Given the description of an element on the screen output the (x, y) to click on. 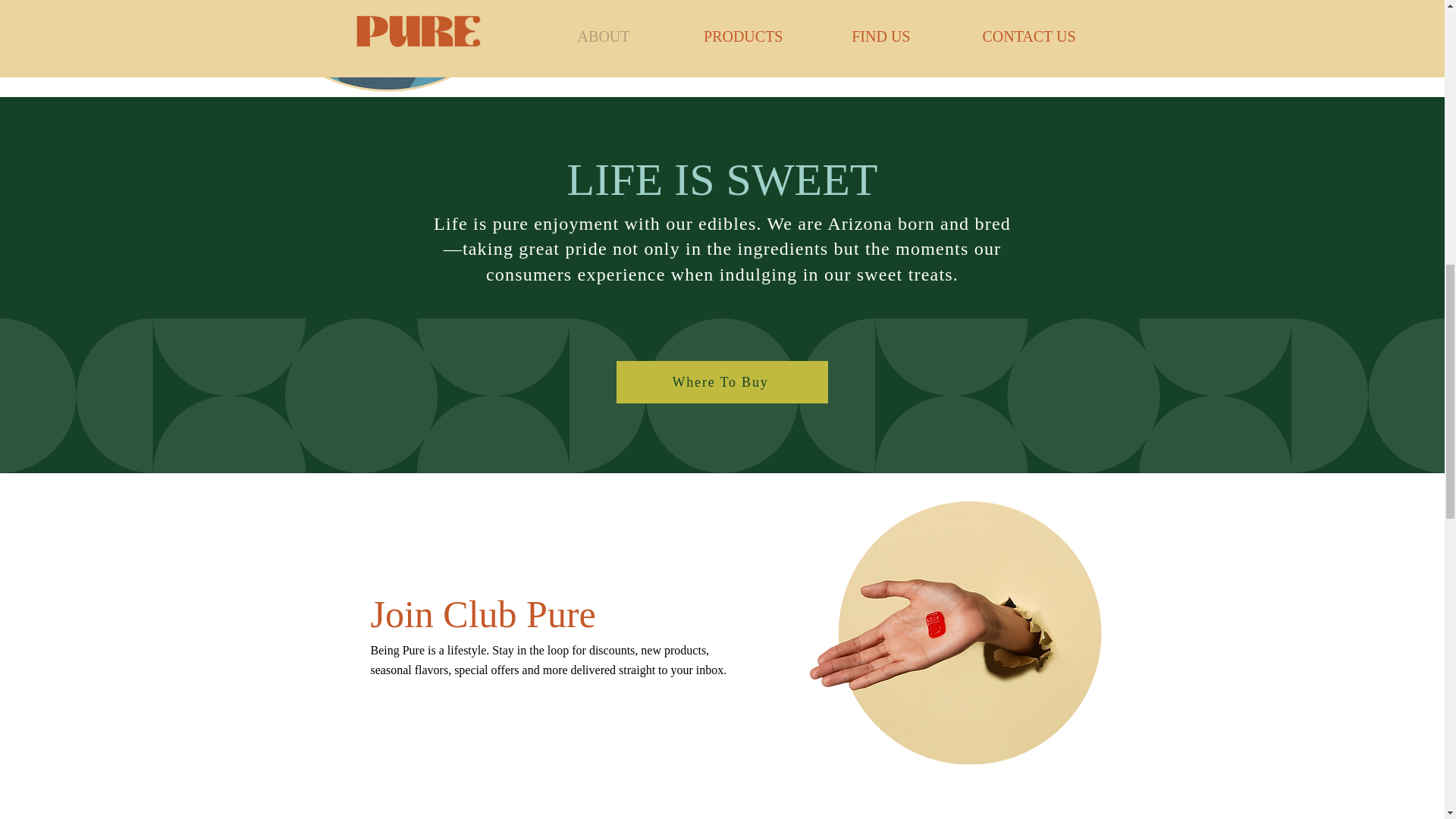
Where To Buy (721, 382)
